Given the description of an element on the screen output the (x, y) to click on. 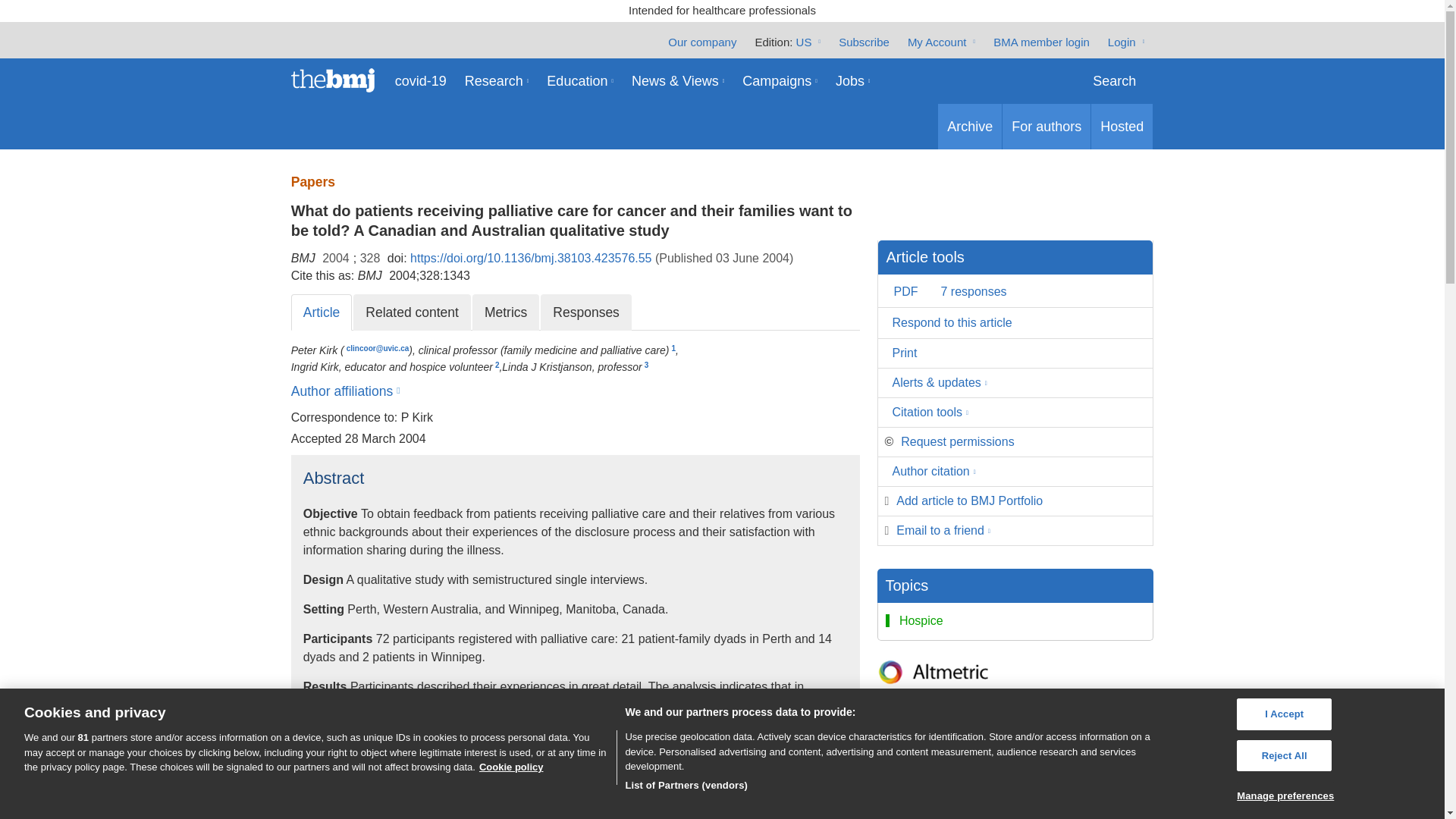
Research (496, 80)
Subscribe (863, 41)
Our company (702, 41)
Article Tab - Article (321, 312)
My Account (941, 41)
BMA member login (1040, 41)
Login (1126, 41)
Search (1114, 80)
BMJ Article Related Rapid Responses (585, 312)
Search (1114, 80)
Home (338, 80)
US (808, 41)
covid-19 (420, 80)
The BMJ logo (338, 80)
